Given the description of an element on the screen output the (x, y) to click on. 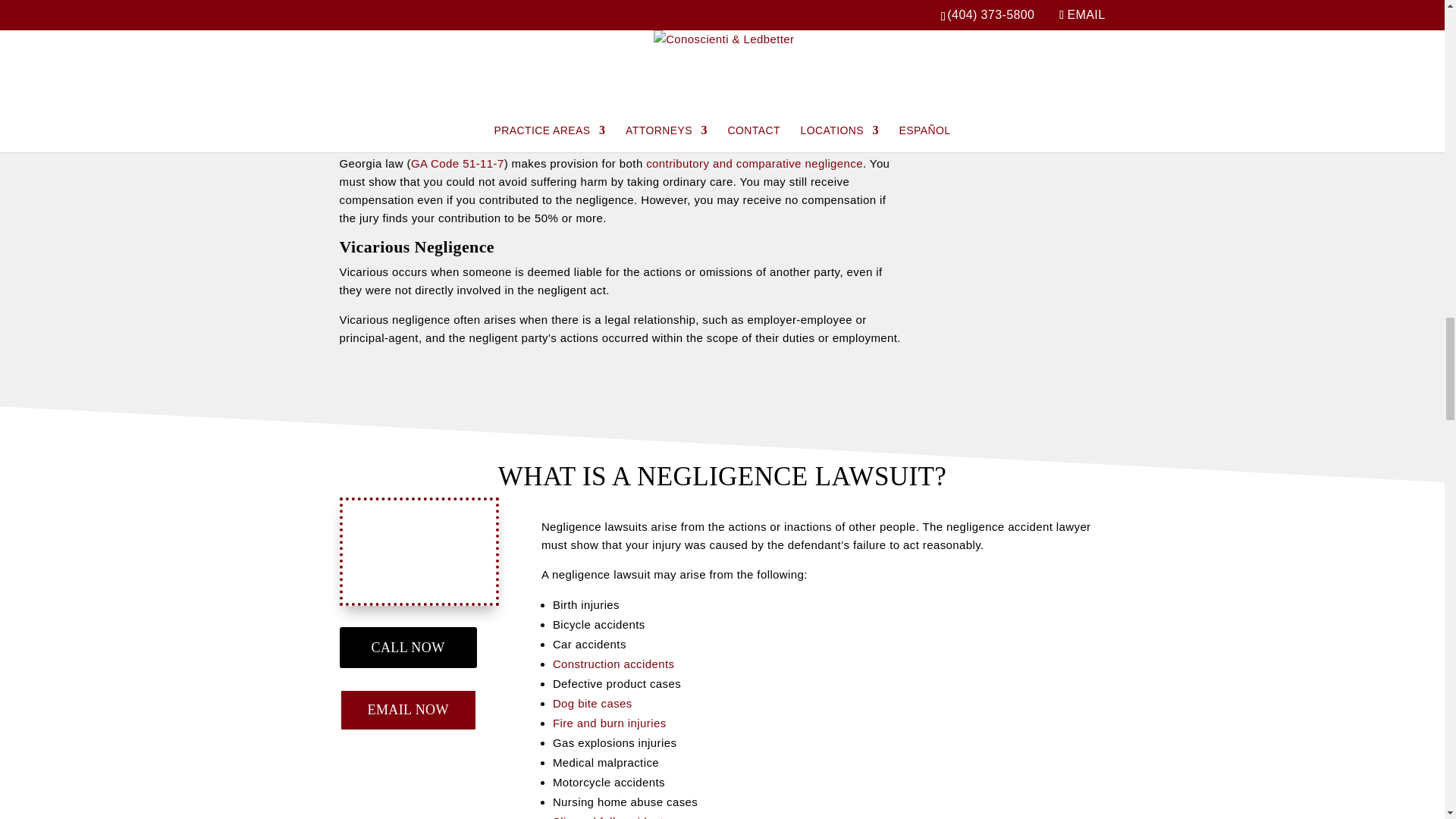
What Is a Negligence Lawsuit (419, 551)
